Given the description of an element on the screen output the (x, y) to click on. 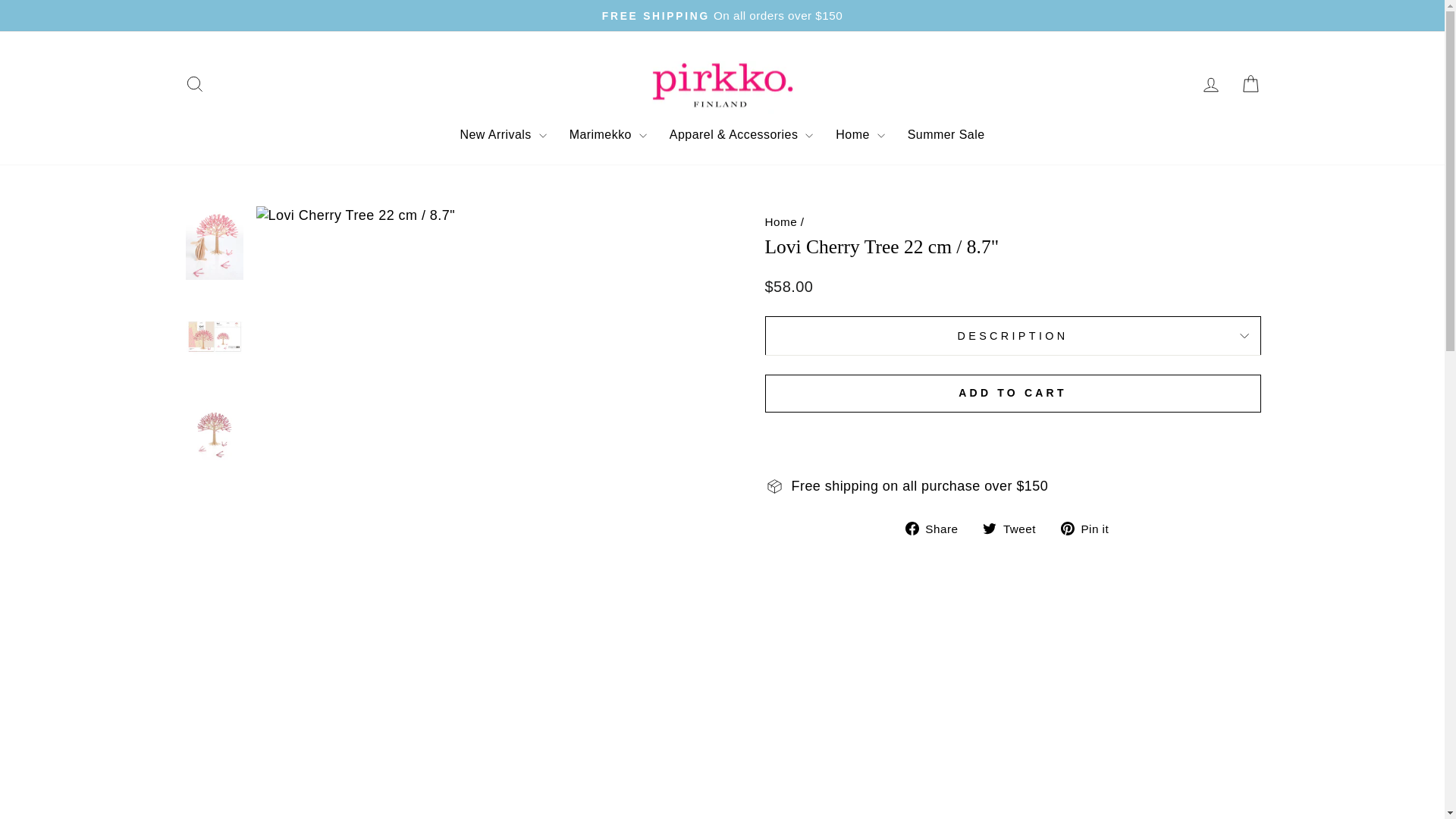
twitter (988, 528)
Back to the frontpage (780, 221)
Share on Facebook (937, 527)
icon-search (194, 84)
account (1210, 84)
Tweet on Twitter (1014, 527)
Pin on Pinterest (1090, 527)
